Given the description of an element on the screen output the (x, y) to click on. 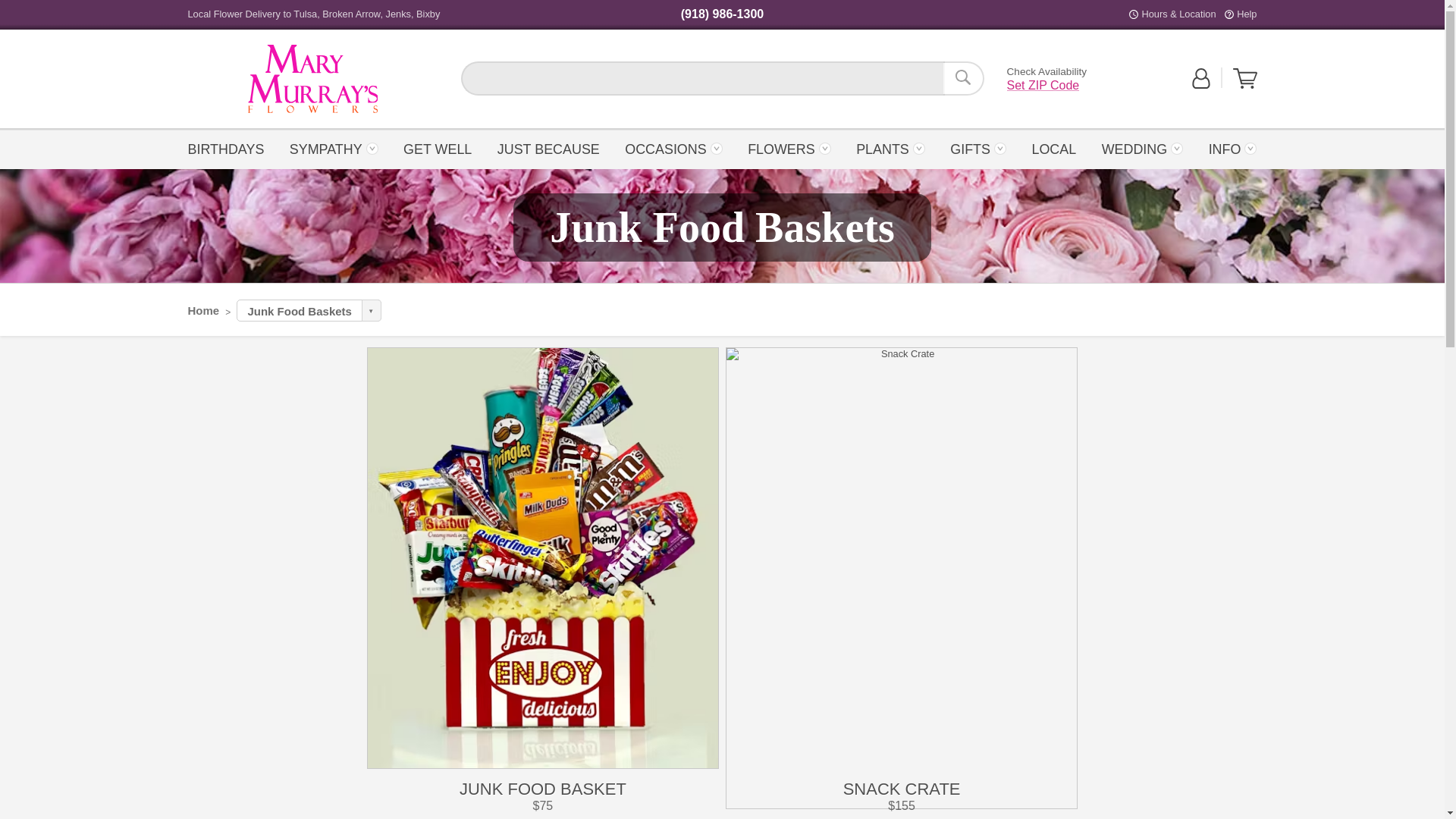
BIRTHDAYS (230, 147)
SYMPATHY (334, 147)
Help (1246, 13)
OCCASIONS (672, 147)
GET WELL (437, 147)
Mary Murray's Flowers Logo (312, 79)
Set ZIP Code (312, 79)
Search (1043, 85)
Back to the Home Page (963, 78)
